Given the description of an element on the screen output the (x, y) to click on. 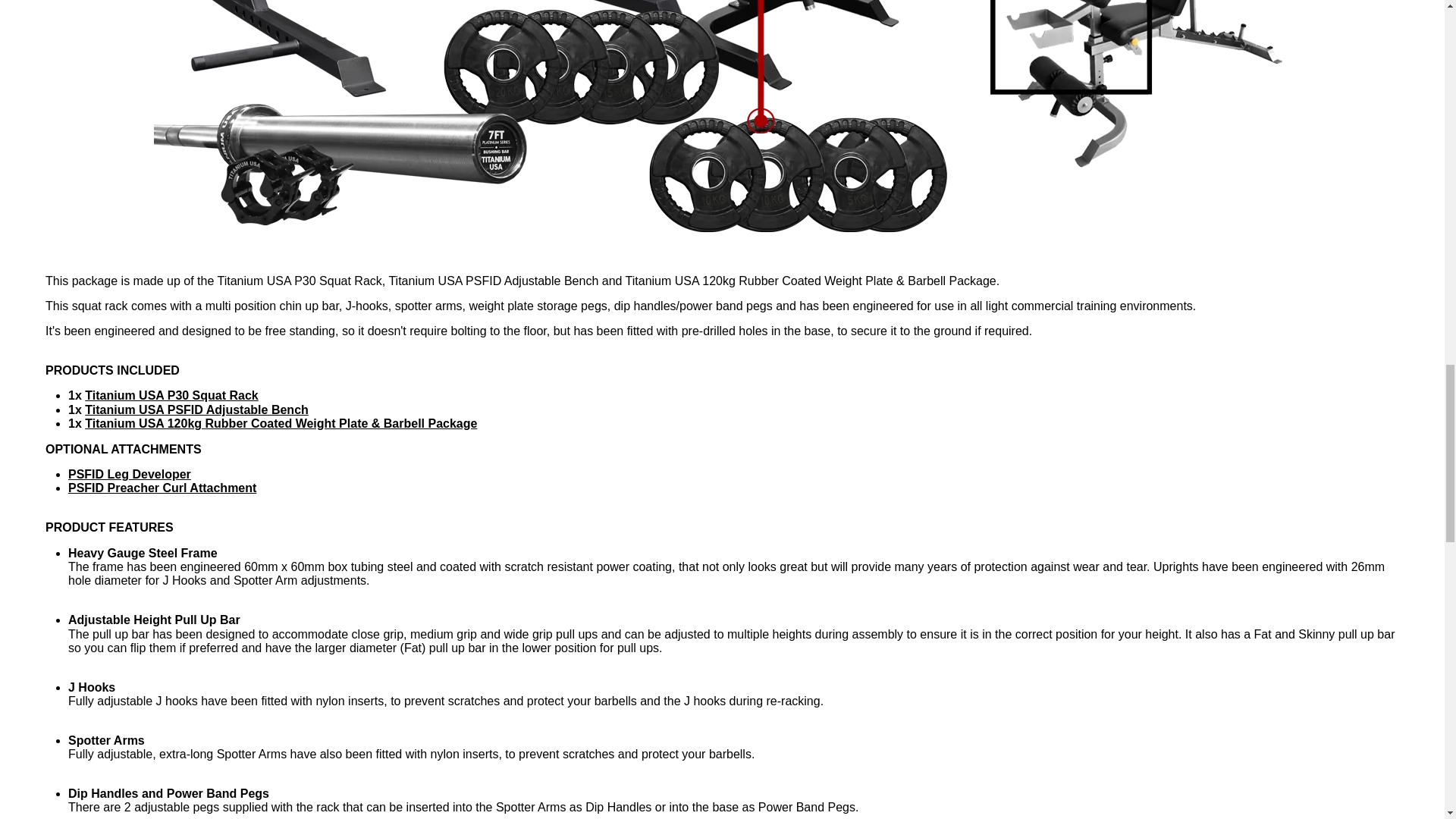
TITANIUM USA ADJUSTABLE BENCH - PSFID (196, 409)
